Given the description of an element on the screen output the (x, y) to click on. 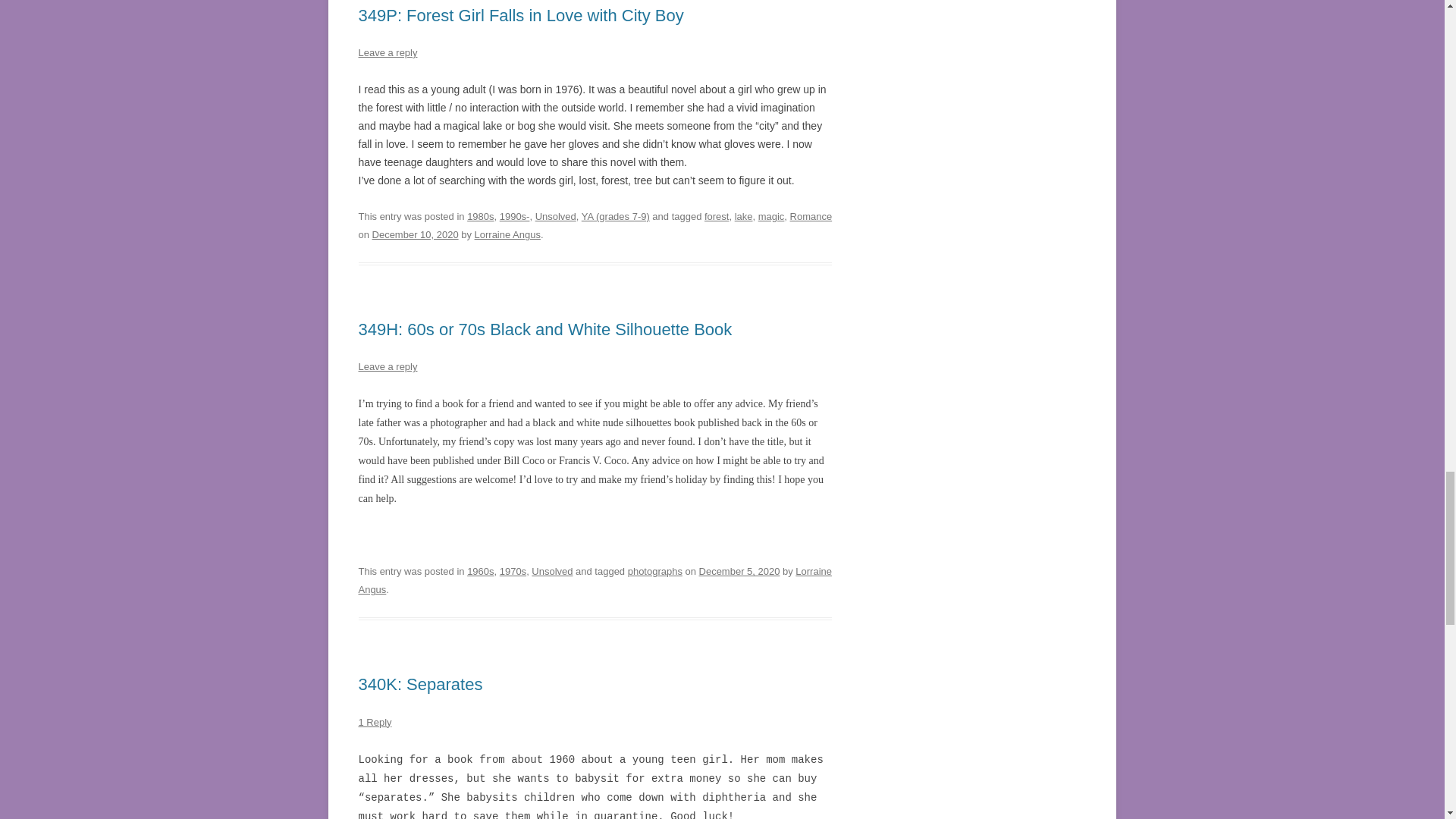
1:56 pm (739, 571)
View all posts by Lorraine Angus (507, 234)
3:49 pm (415, 234)
